Given the description of an element on the screen output the (x, y) to click on. 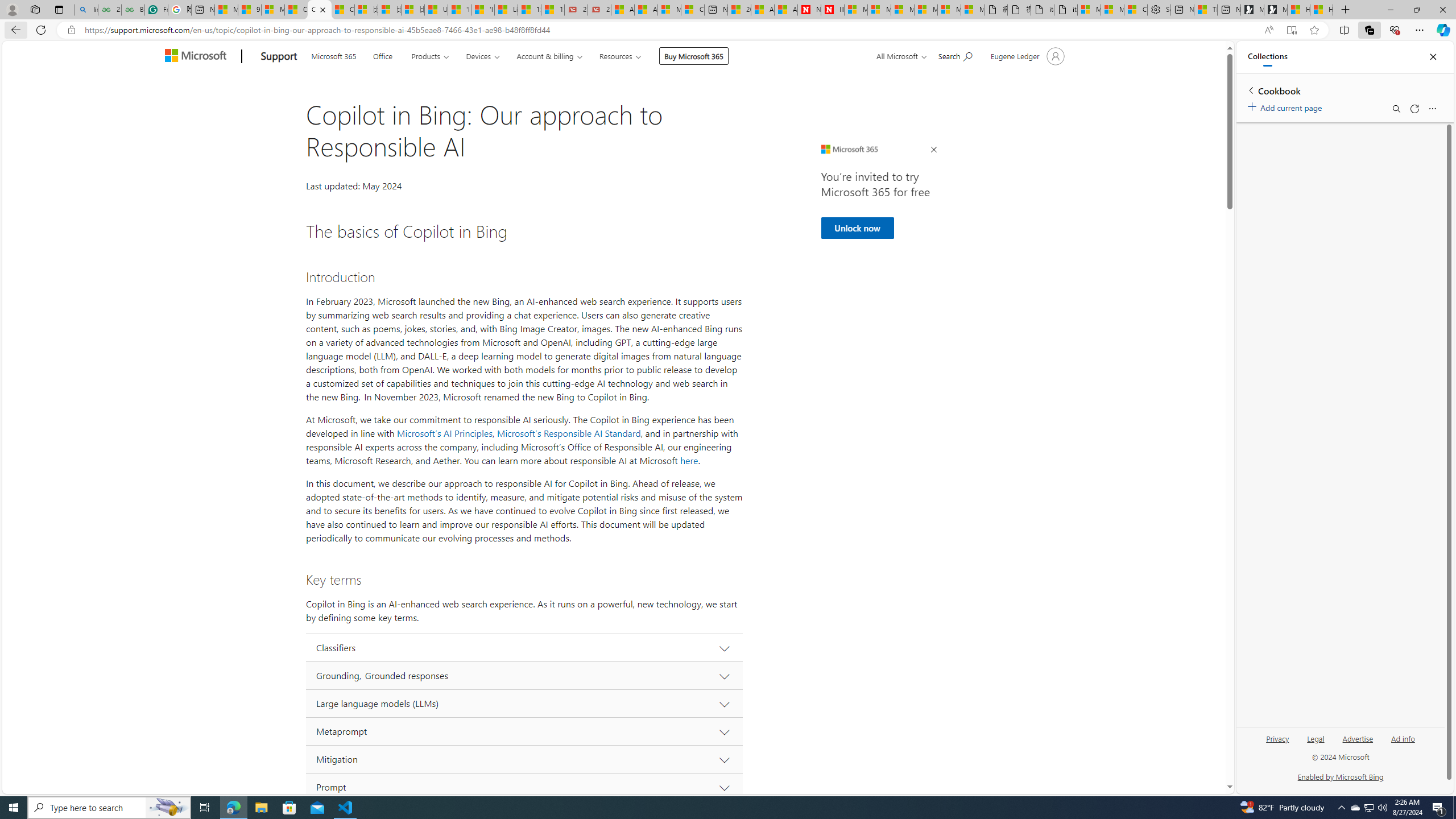
Address and search bar (669, 29)
Advertise (1358, 742)
Close (1432, 56)
Best SSL Certificates Provider in India - GeeksforGeeks (132, 9)
Account manager for Eugene Ledger (1025, 55)
New tab (1228, 9)
Privacy (1278, 738)
Microsoft (197, 56)
More options menu (1432, 108)
Microsoft Services Agreement (879, 9)
Advertise (1357, 738)
Three Ways To Stop Sweating So Much (1205, 9)
